Given the description of an element on the screen output the (x, y) to click on. 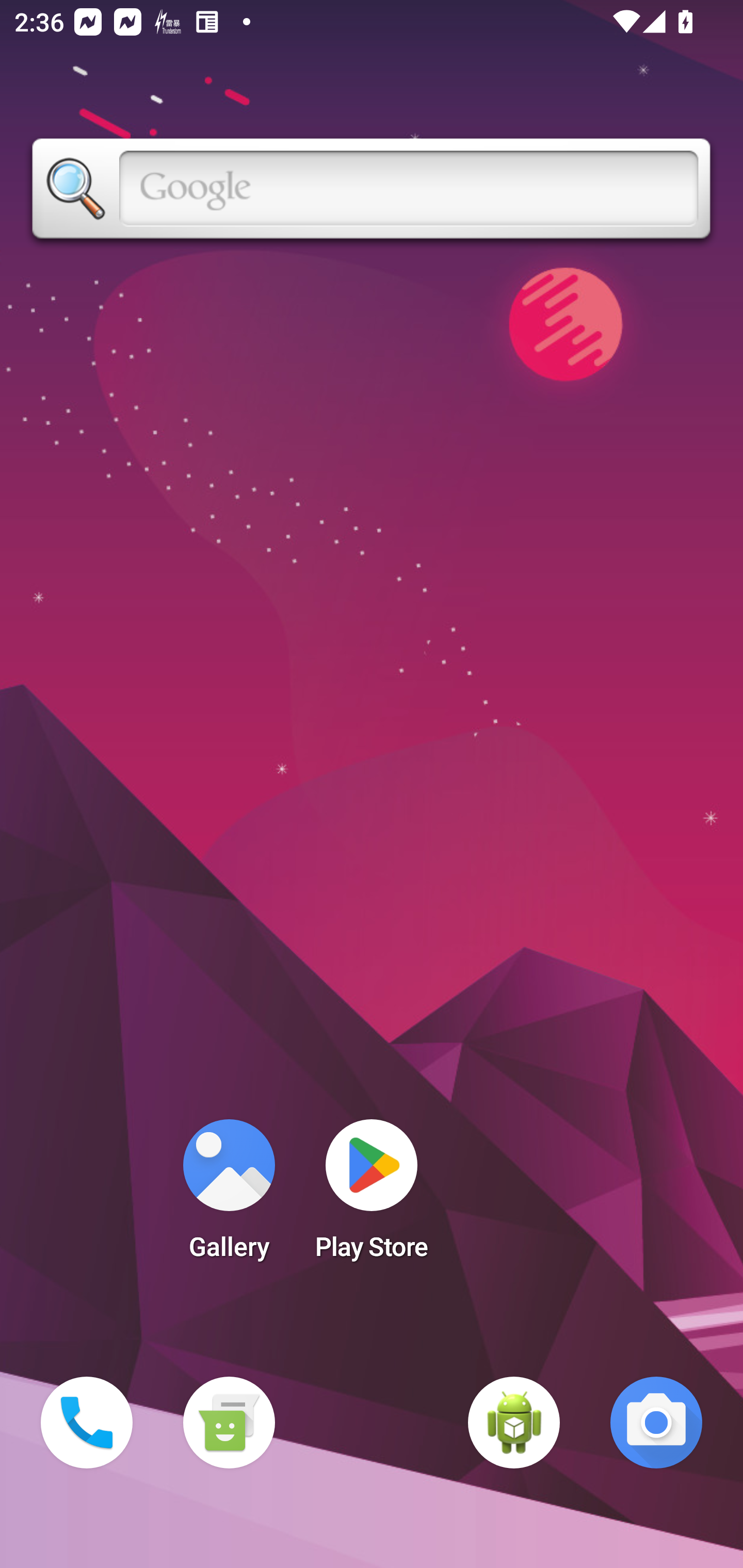
Gallery (228, 1195)
Play Store (371, 1195)
Phone (86, 1422)
Messaging (228, 1422)
WebView Browser Tester (513, 1422)
Camera (656, 1422)
